Given the description of an element on the screen output the (x, y) to click on. 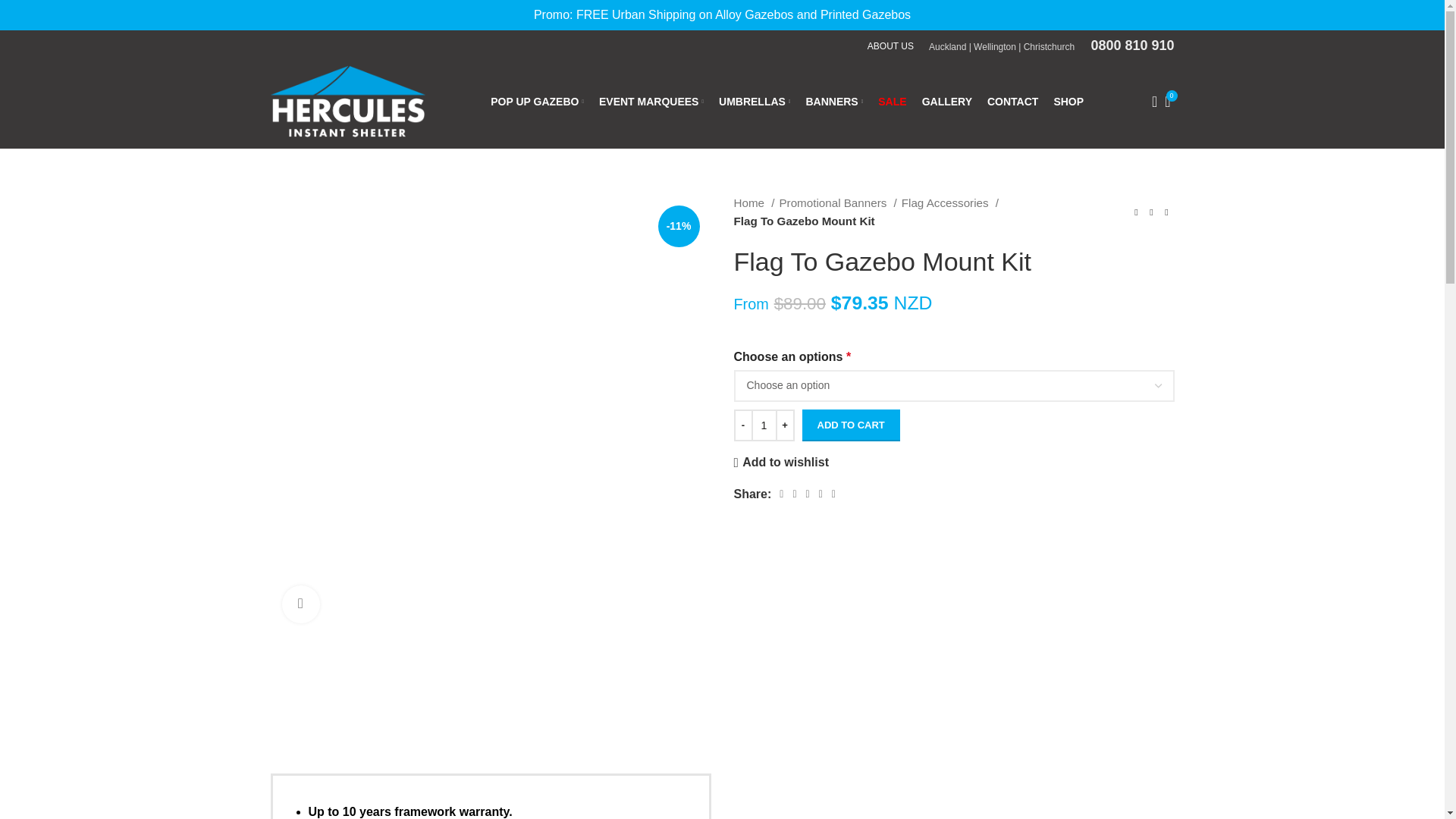
ABOUT US (890, 46)
POP UP GAZEBO (536, 101)
0800 810 910 (1125, 46)
EVENT MARQUEES (650, 101)
